Given the description of an element on the screen output the (x, y) to click on. 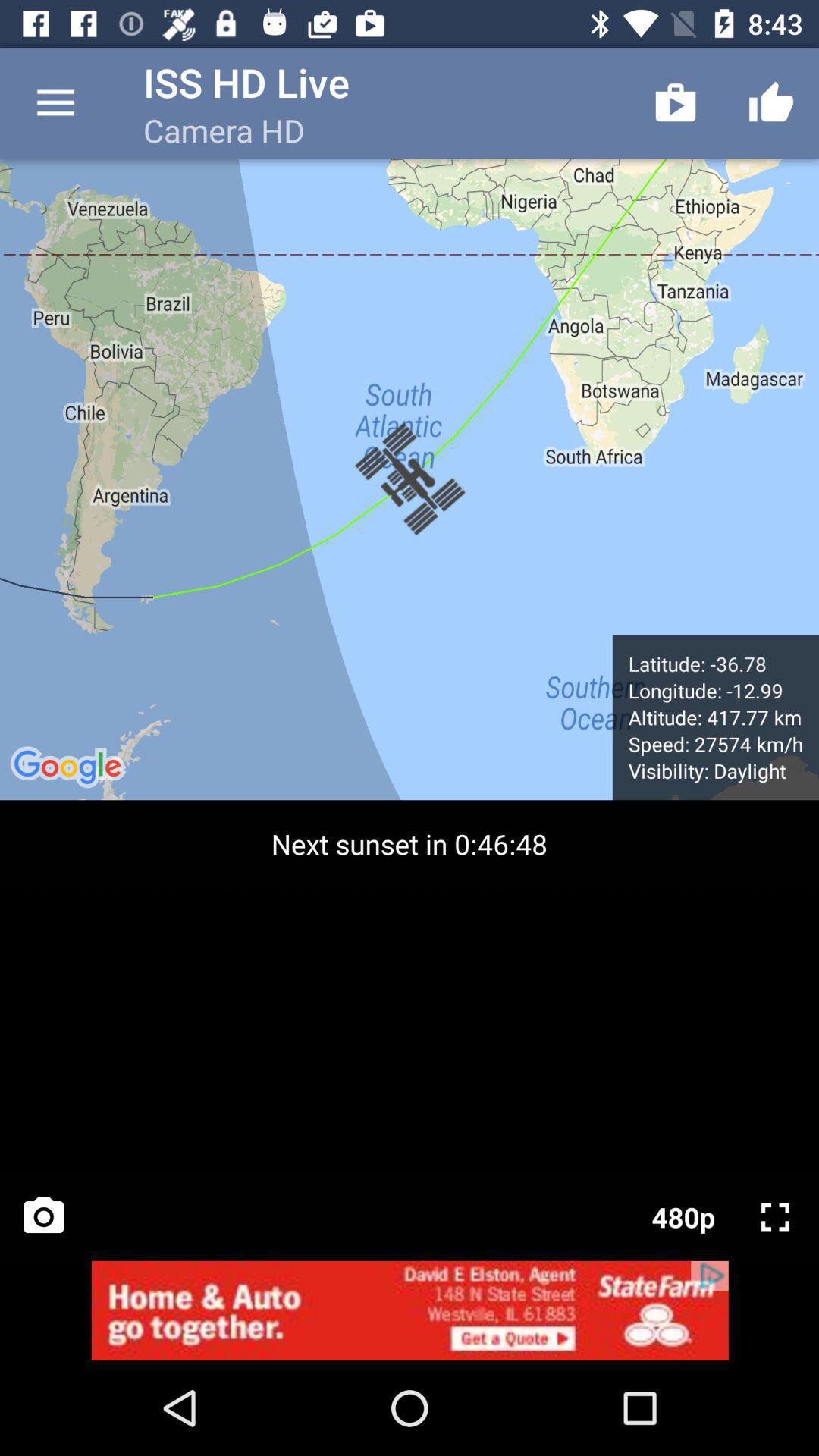
zoom button (775, 1217)
